Given the description of an element on the screen output the (x, y) to click on. 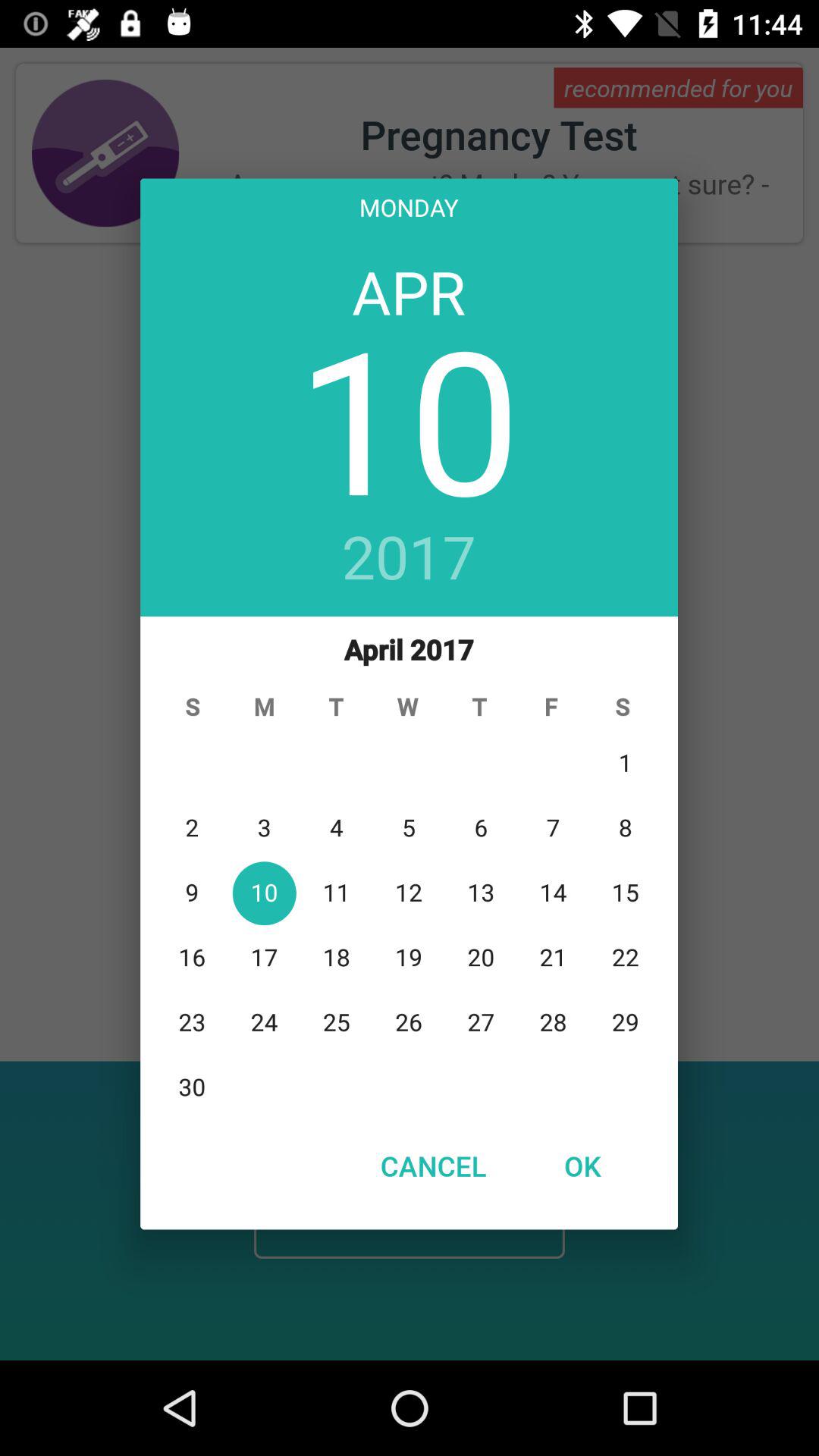
launch the 2017 (408, 559)
